Given the description of an element on the screen output the (x, y) to click on. 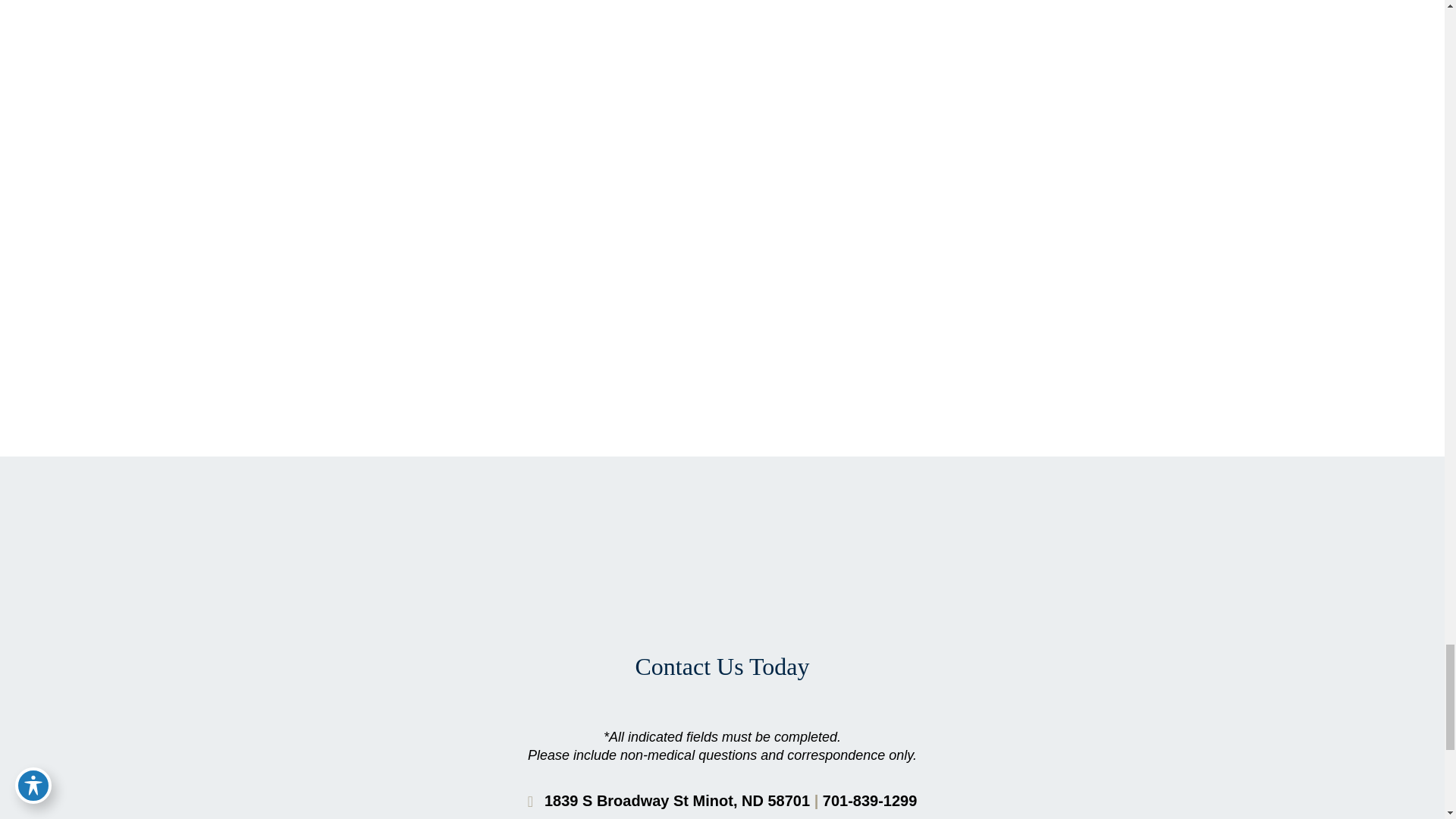
LOGO Footer (721, 571)
